Given the description of an element on the screen output the (x, y) to click on. 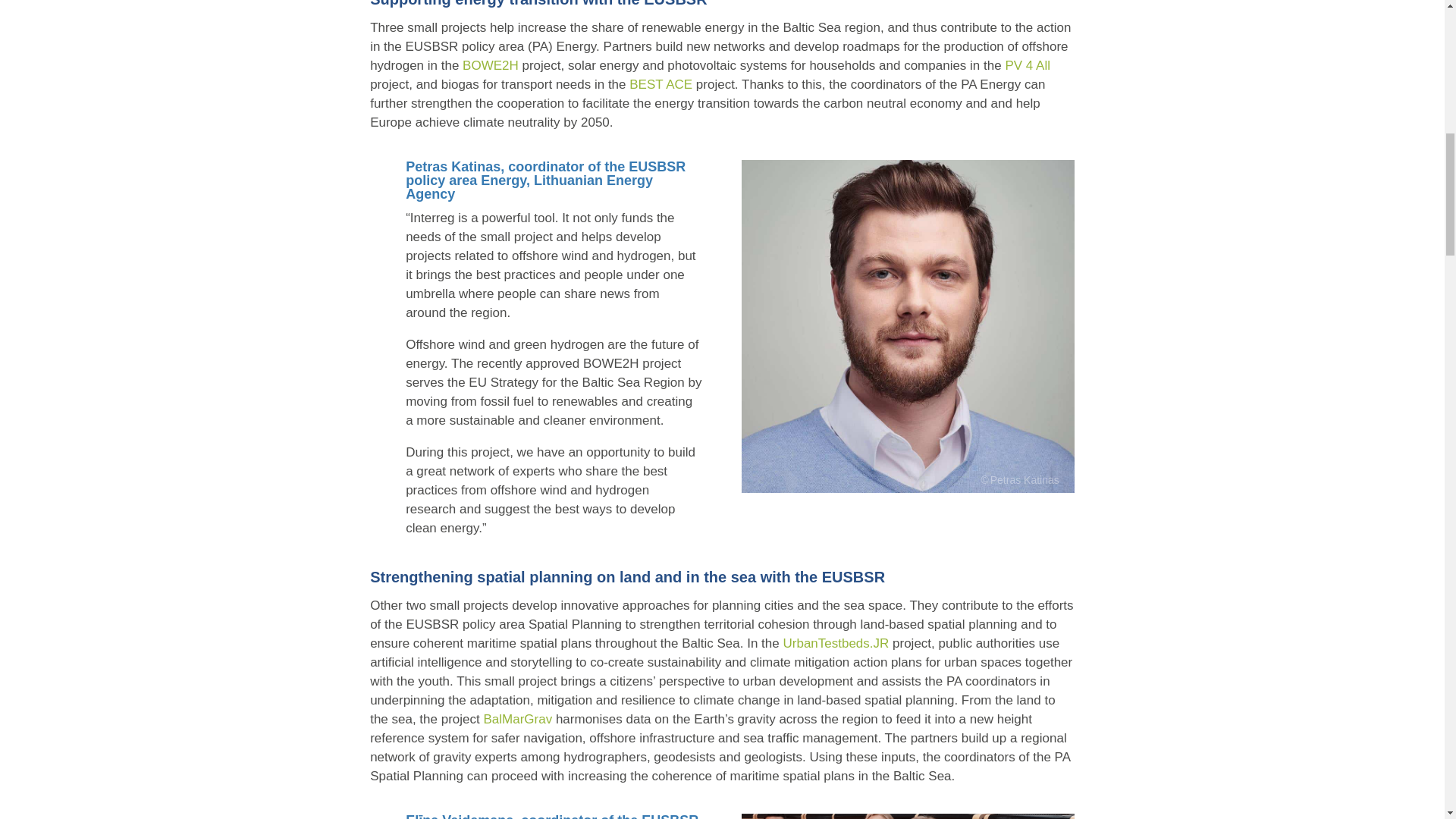
VASAB (907, 816)
1. Petras Katinas (907, 326)
